Given the description of an element on the screen output the (x, y) to click on. 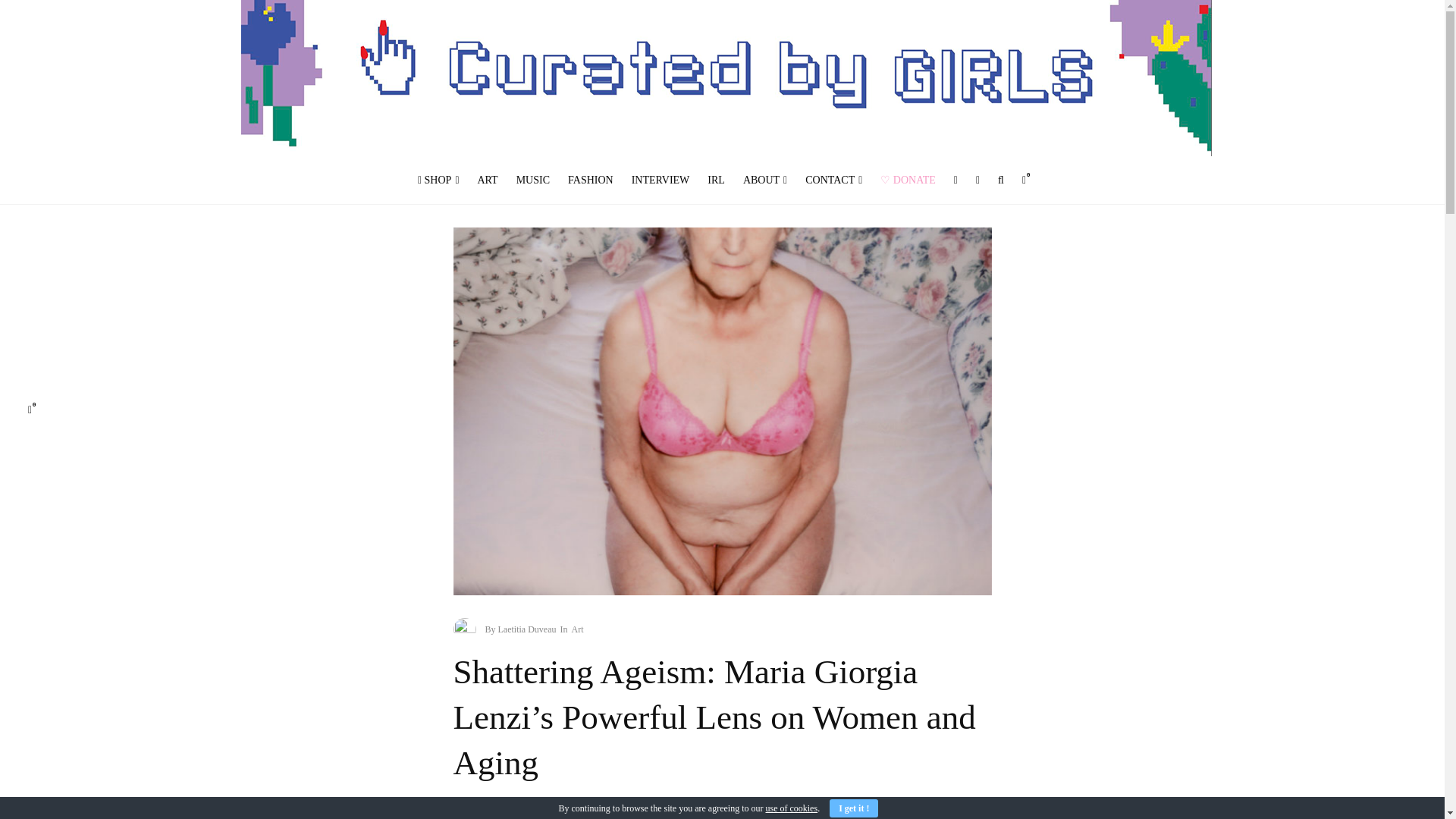
ABOUT (764, 179)
FASHION (591, 179)
INTERVIEW (660, 179)
By Laetitia Duveau (520, 629)
MUSIC (532, 179)
CONTACT (833, 179)
